Given the description of an element on the screen output the (x, y) to click on. 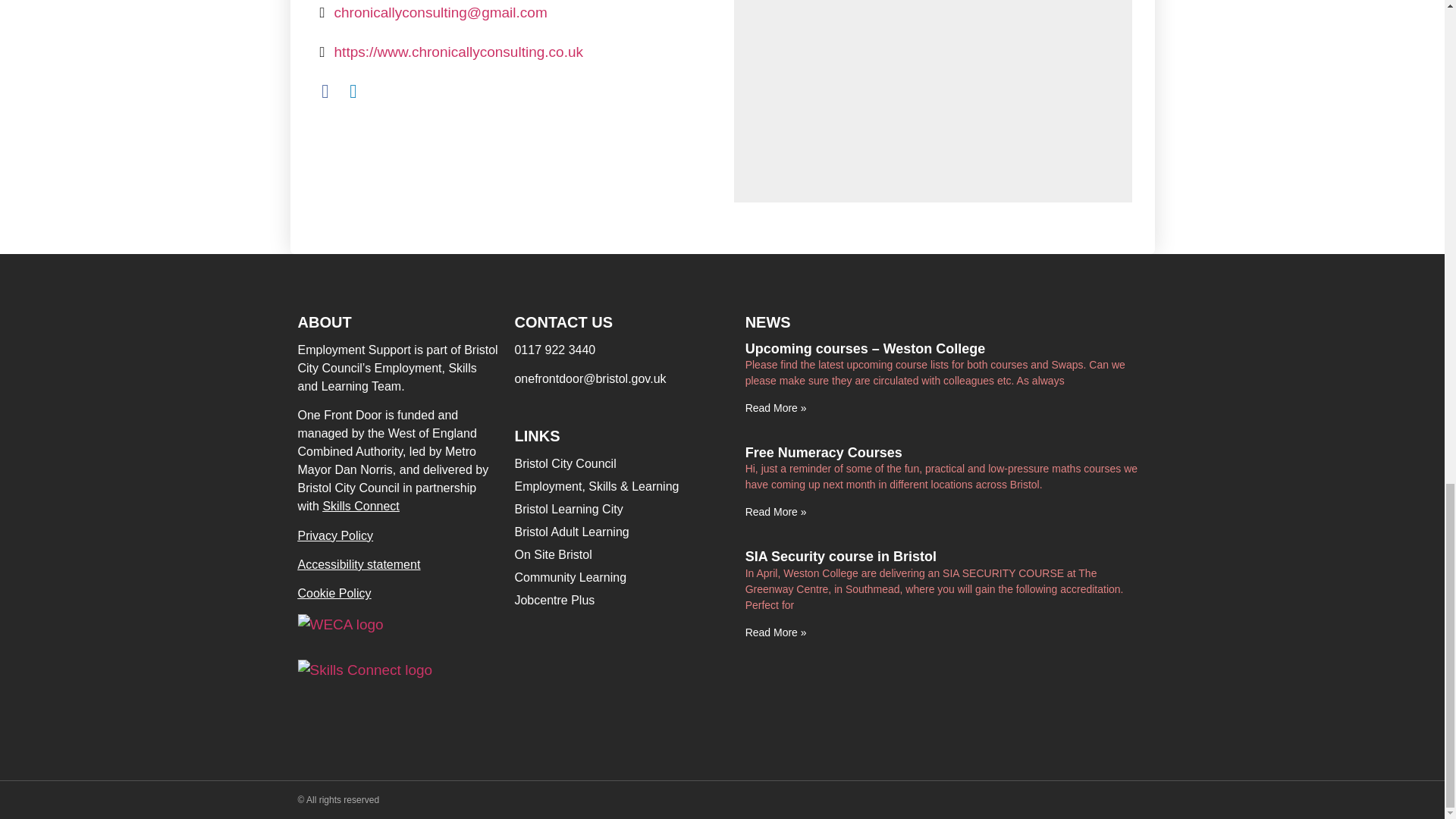
Bristol Adult Learning (621, 532)
LinkedIn (352, 91)
Bristol City Council (621, 464)
On Site Bristol (621, 555)
Cookie Policy (334, 593)
Free Numeracy Courses (823, 452)
Facebook (324, 91)
Accessibility statement (358, 563)
Community Learning (621, 577)
Privacy Policy (334, 535)
